Given the description of an element on the screen output the (x, y) to click on. 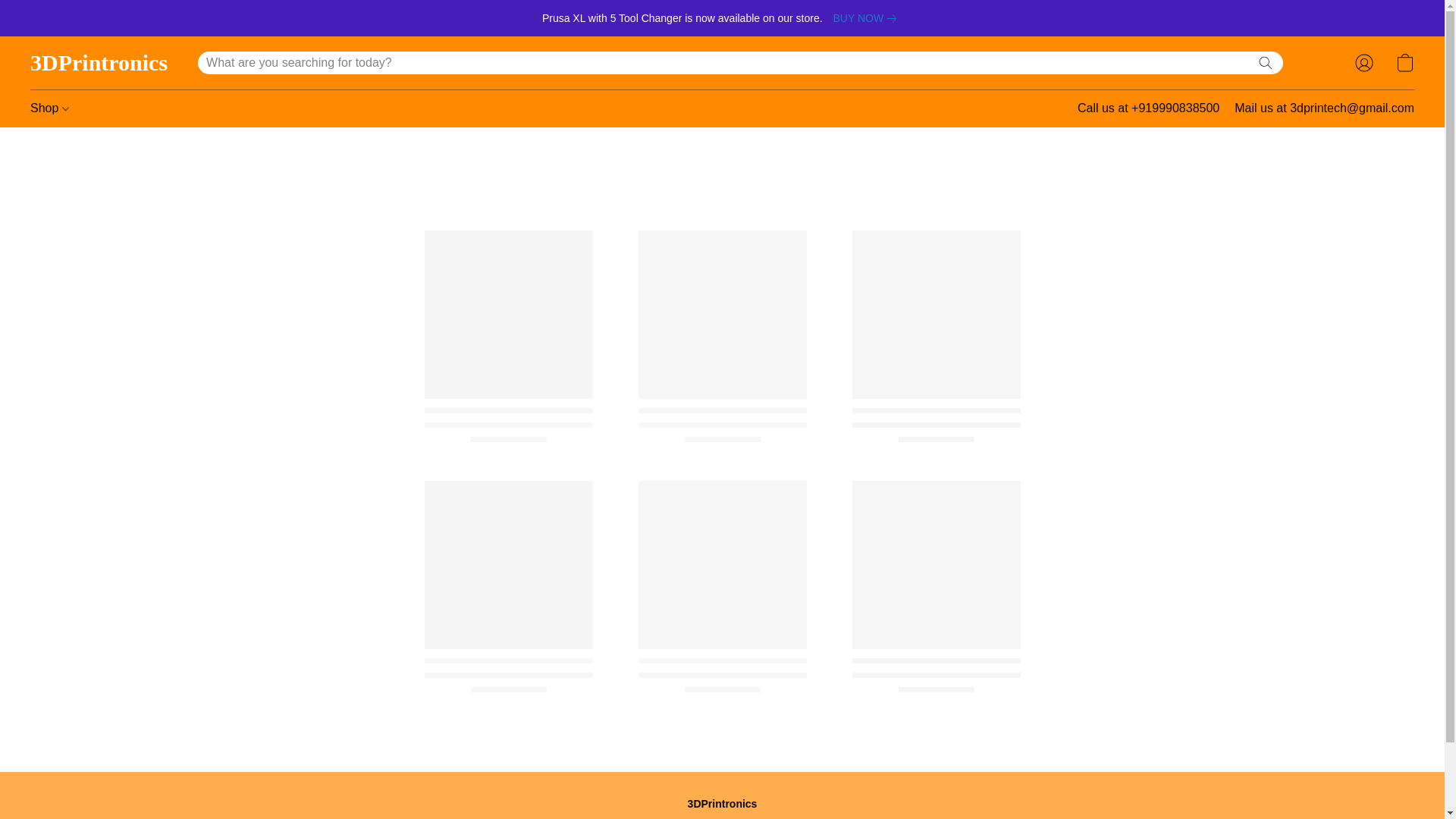
Shop (49, 108)
3DPrintronics (98, 62)
Go to your shopping cart (1404, 62)
BUY NOW (867, 18)
